Given the description of an element on the screen output the (x, y) to click on. 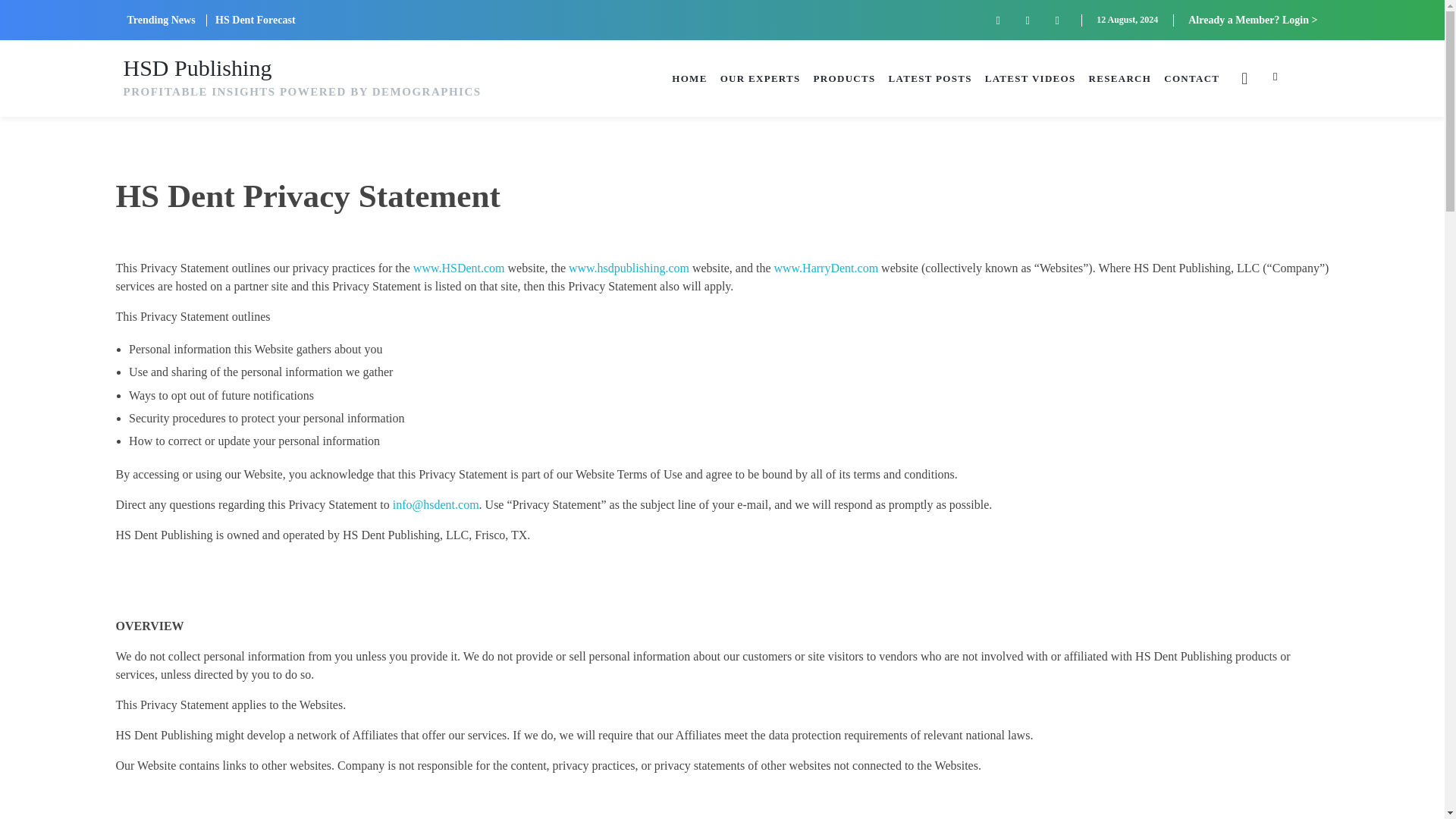
OUR EXPERTS (760, 77)
HSD Publishing (196, 67)
HS Dent Forecast (255, 19)
CONTACT (1191, 77)
PRODUCTS (844, 77)
RESEARCH (1120, 77)
LATEST POSTS (930, 77)
HOME (688, 77)
LATEST VIDEOS (1030, 77)
